Given the description of an element on the screen output the (x, y) to click on. 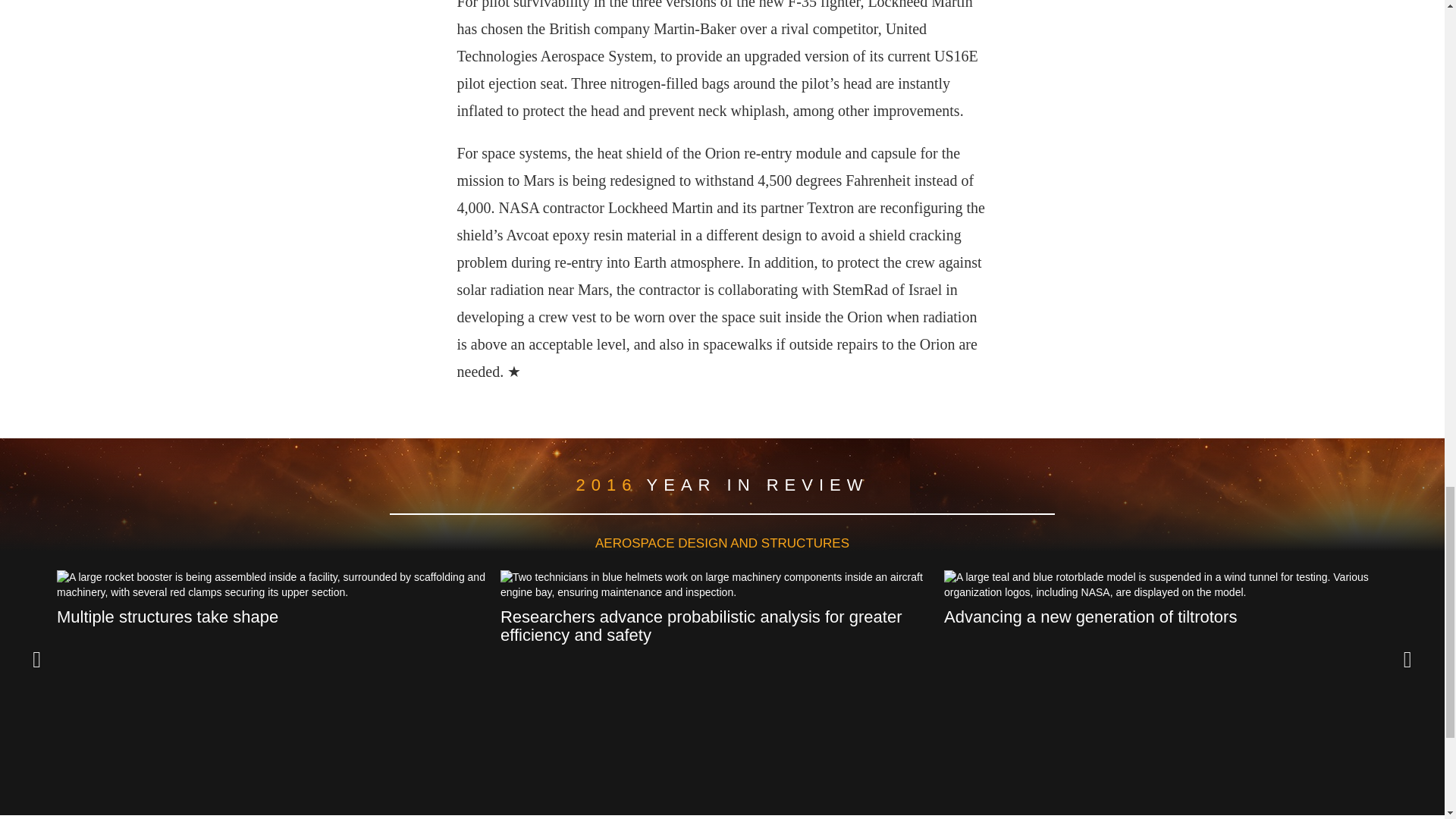
Advancing a new generation of tiltrotors (1159, 617)
Multiple structures take shape (272, 617)
